Given the description of an element on the screen output the (x, y) to click on. 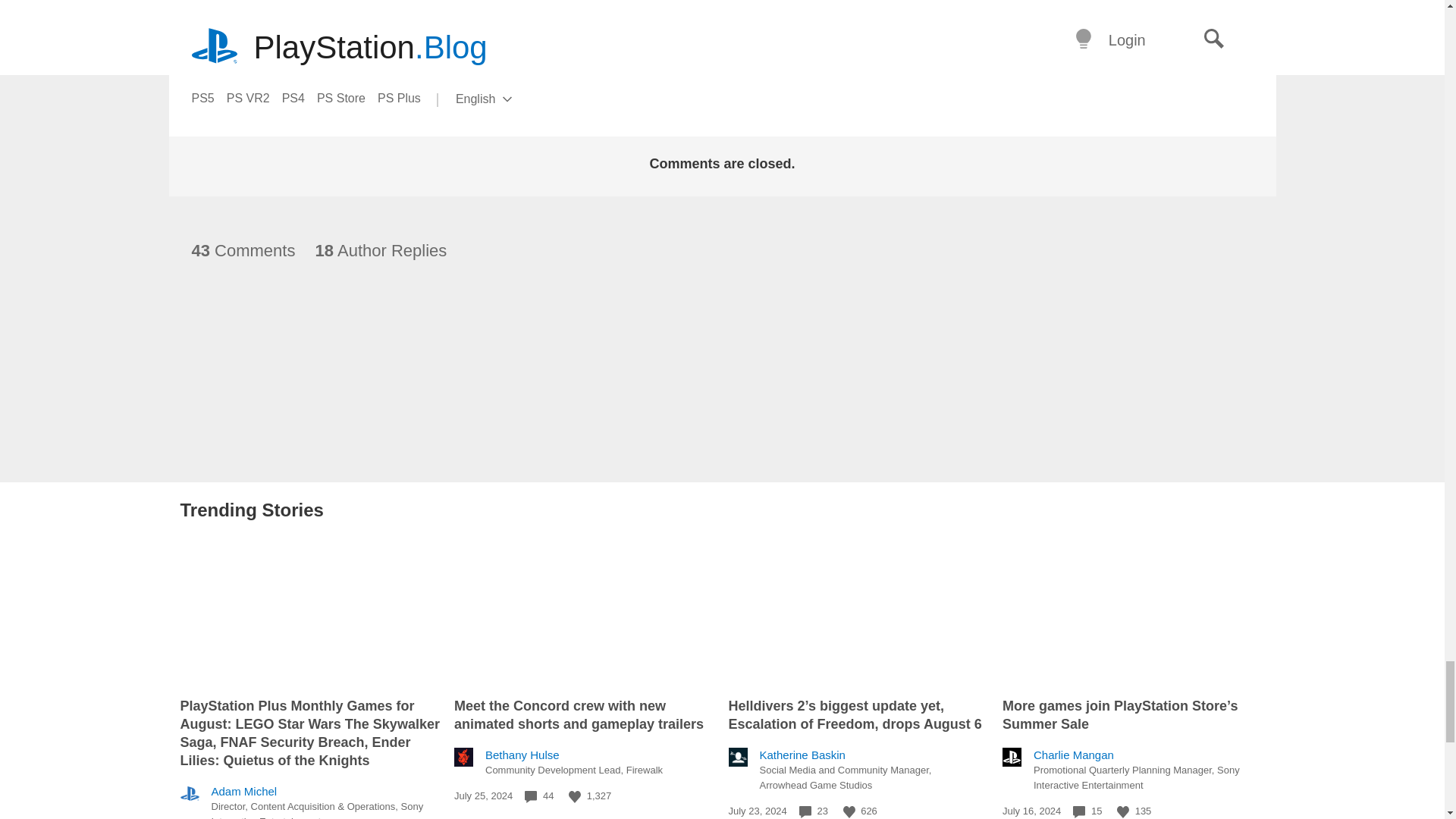
Like this (1122, 811)
Like this (849, 811)
Like this (574, 797)
